Given the description of an element on the screen output the (x, y) to click on. 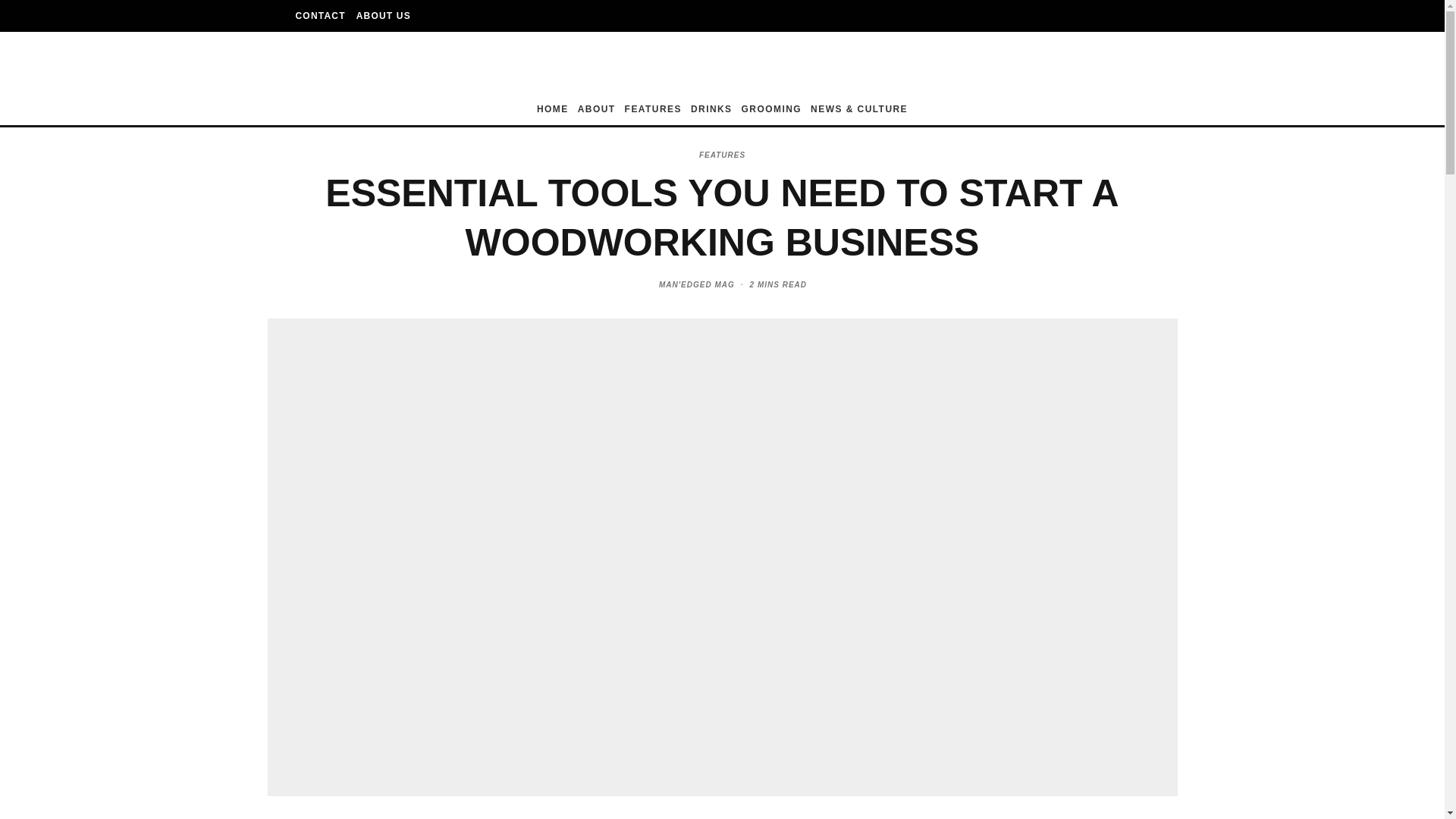
MAN'EDGED MAG (697, 284)
GROOMING (771, 112)
FEATURES (652, 112)
CONTACT (319, 15)
ABOUT (596, 112)
FEATURES (721, 154)
ABOUT US (383, 15)
DRINKS (710, 112)
HOME (552, 112)
